Given the description of an element on the screen output the (x, y) to click on. 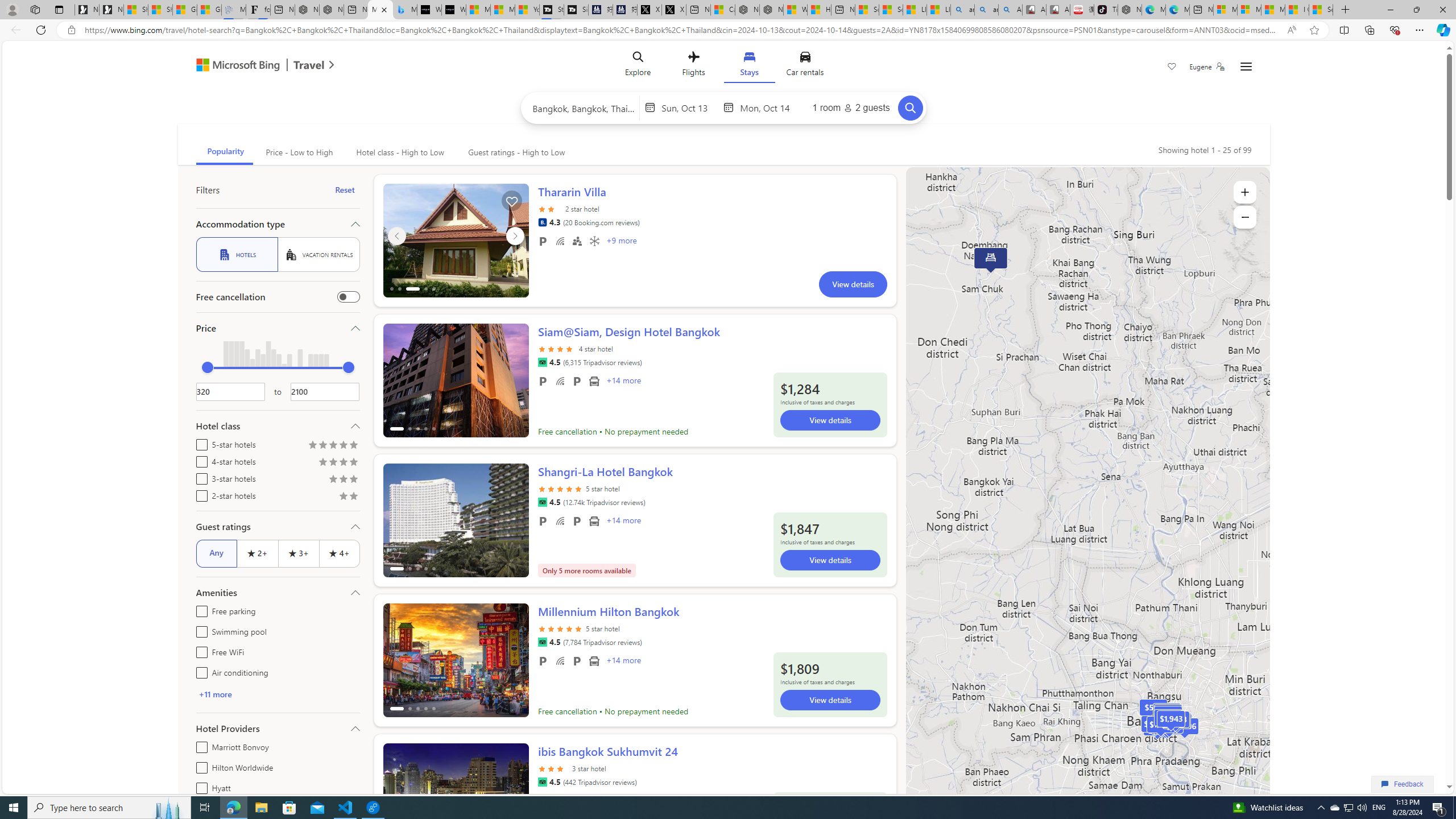
Free cancellation (347, 296)
View details (830, 699)
+9 More Amenities (621, 241)
Class: trvl-hub-header (723, 65)
Rating (353, 496)
Amazon Echo Robot - Search Images (1009, 9)
Valet parking (577, 660)
min  (207, 367)
